Given the description of an element on the screen output the (x, y) to click on. 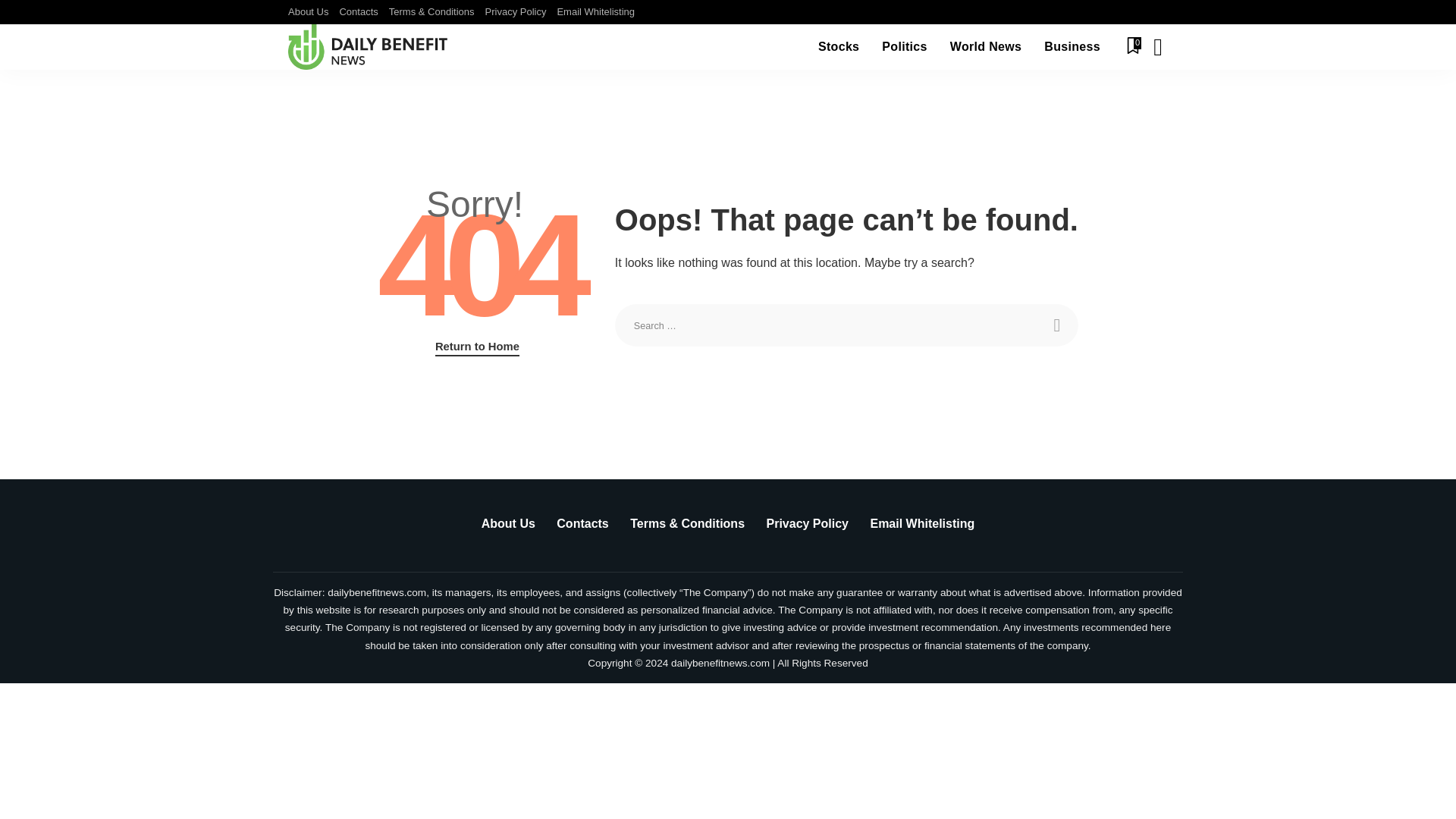
Stocks (838, 46)
Search (1056, 324)
Politics (903, 46)
About Us (310, 11)
Return to Home (477, 347)
Search (1146, 5)
Email Whitelisting (595, 11)
Privacy Policy (515, 11)
Search (1056, 324)
Contacts (357, 11)
Business (1072, 46)
Return to Home (477, 347)
Search (1146, 89)
World News (985, 46)
Daily Benefit News (368, 46)
